Given the description of an element on the screen output the (x, y) to click on. 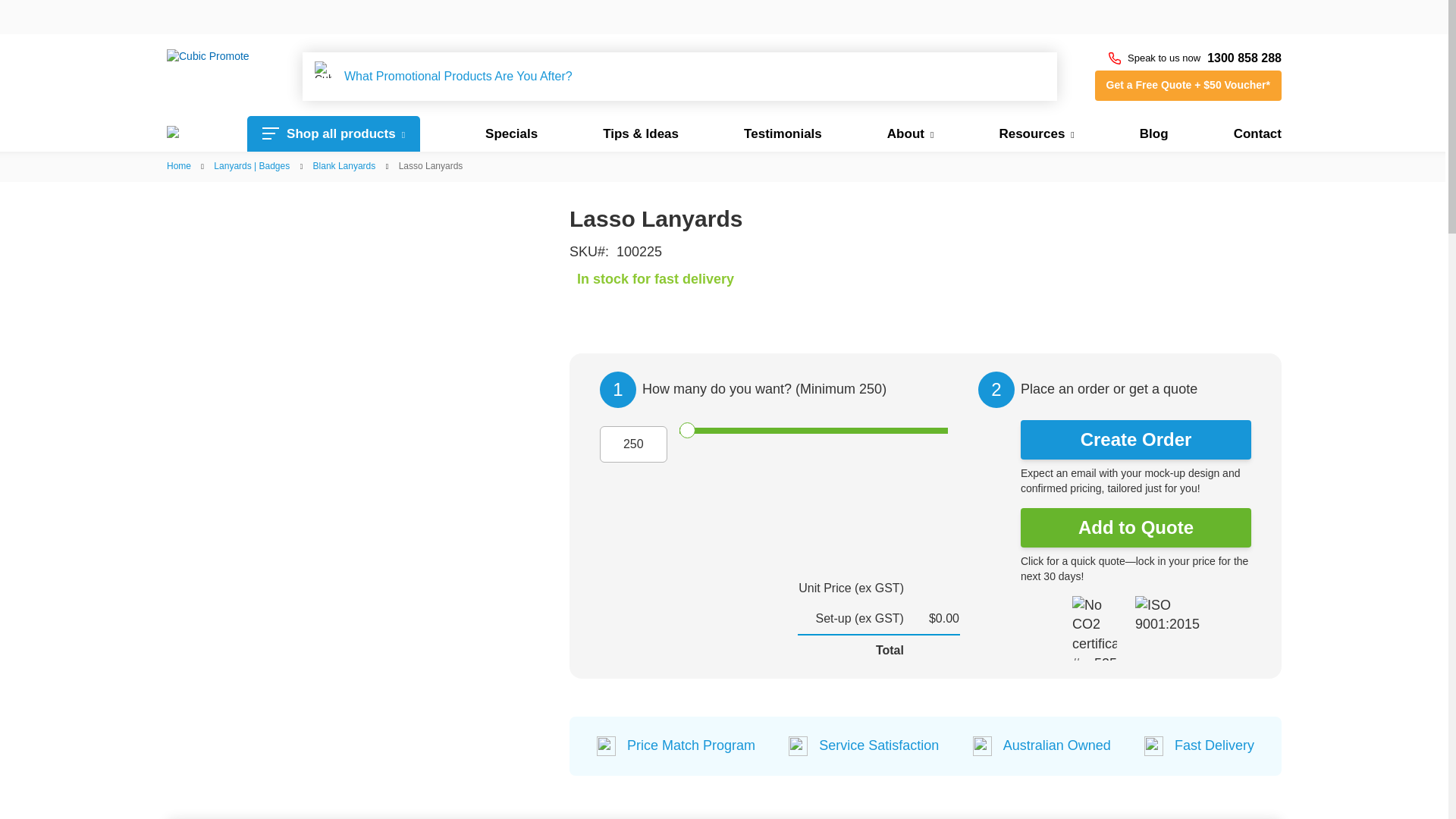
Availability (809, 279)
Home (178, 165)
Testimonials (783, 133)
Create Order (1135, 439)
Contact (1257, 133)
250 (813, 430)
Resources (1036, 133)
Add to Quote (1135, 527)
Blank Lanyards (344, 165)
About (909, 133)
